Given the description of an element on the screen output the (x, y) to click on. 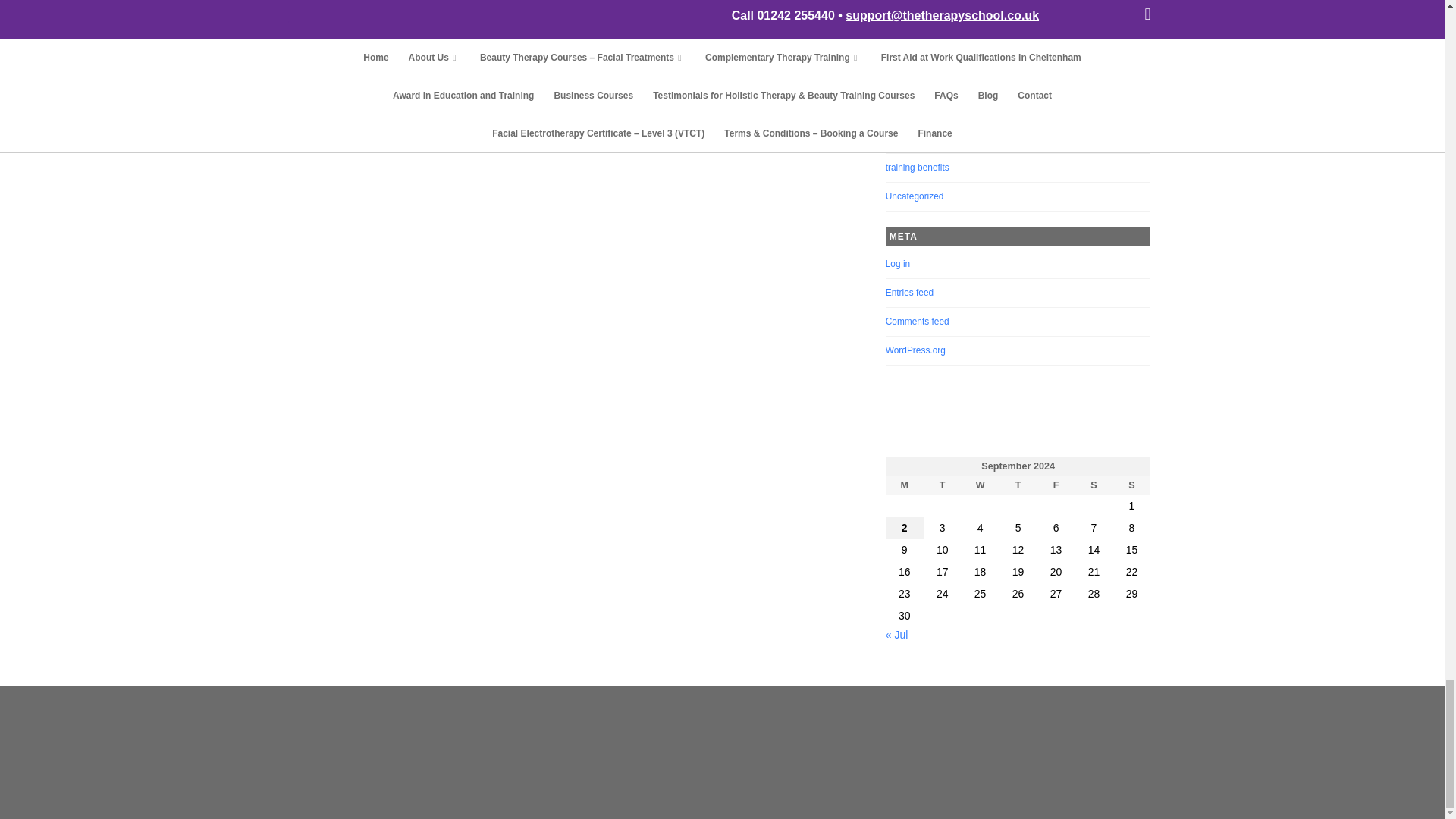
Tuesday (941, 485)
Friday (1055, 485)
Saturday (1094, 485)
Thursday (1017, 485)
Sunday (1131, 485)
Wednesday (979, 485)
Monday (904, 485)
